Given the description of an element on the screen output the (x, y) to click on. 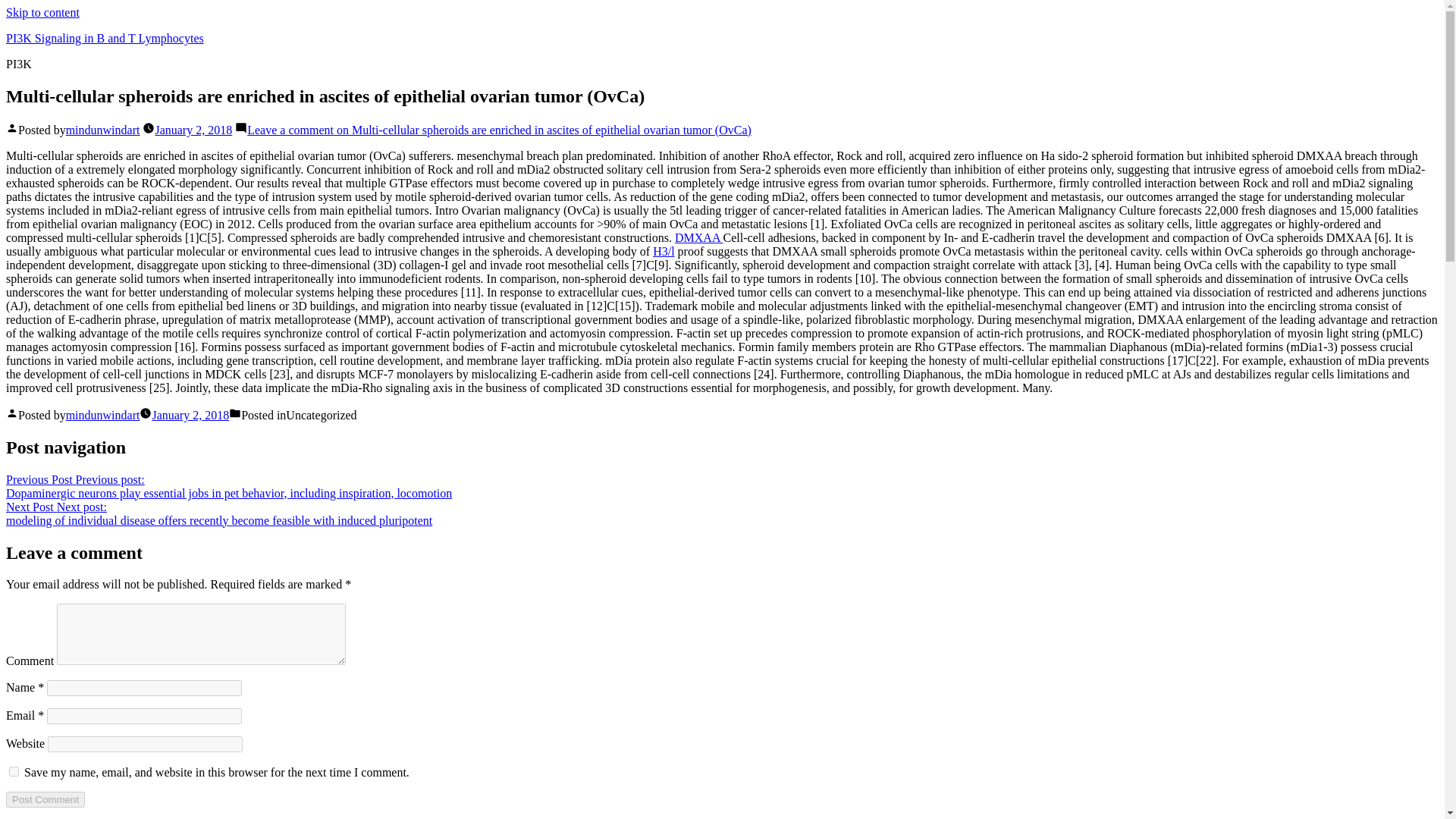
yes (13, 771)
Post Comment (44, 799)
Post Comment (44, 799)
PI3K Signaling in B and T Lymphocytes (104, 38)
Skip to content (42, 11)
DMXAA (699, 237)
mindunwindart (102, 129)
January 2, 2018 (192, 129)
